Given the description of an element on the screen output the (x, y) to click on. 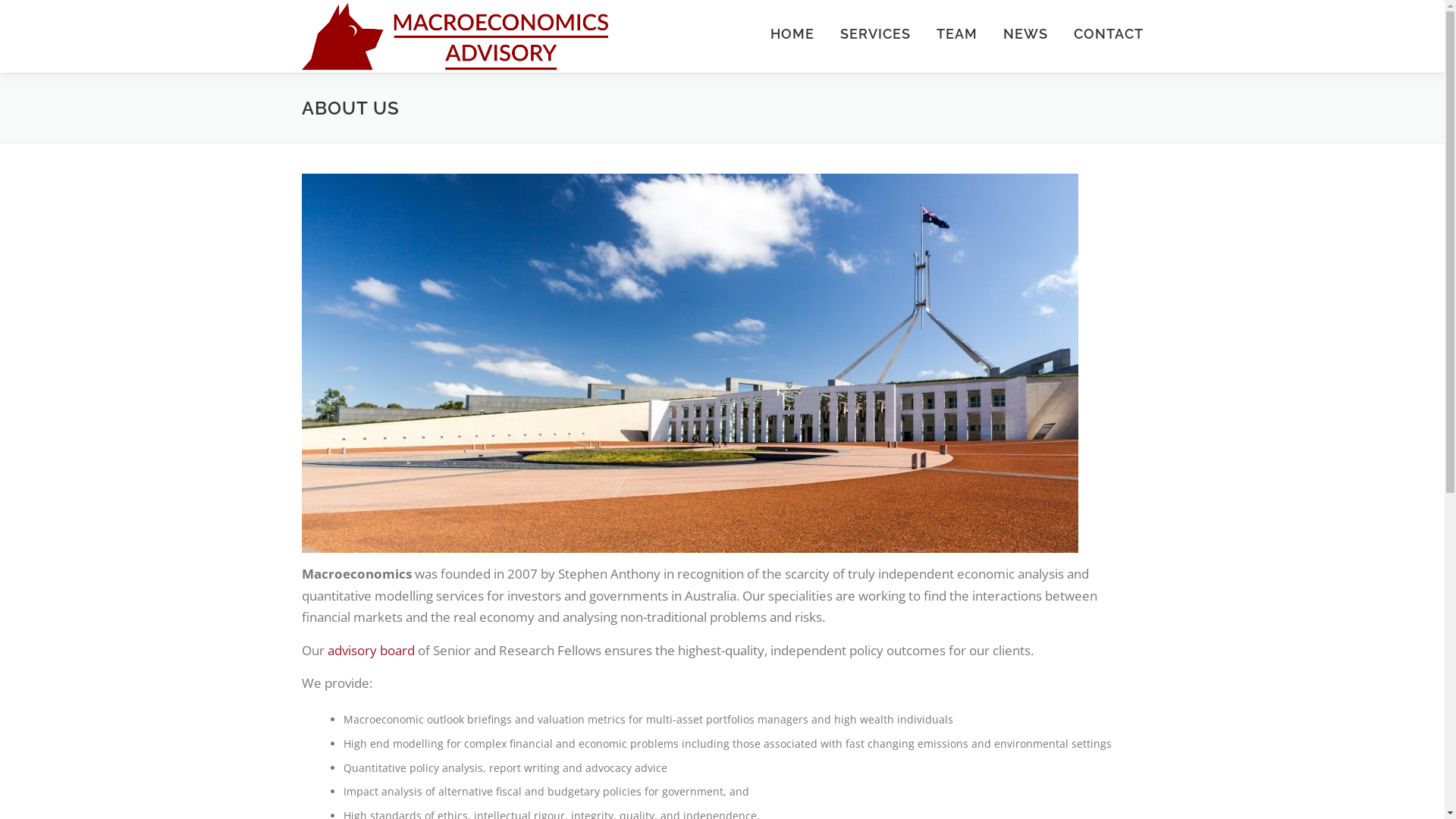
CONTACT Element type: text (1101, 34)
NEWS Element type: text (1025, 34)
TEAM Element type: text (956, 34)
HOME Element type: text (791, 34)
SERVICES Element type: text (874, 34)
advisory board Element type: text (370, 649)
